Given the description of an element on the screen output the (x, y) to click on. 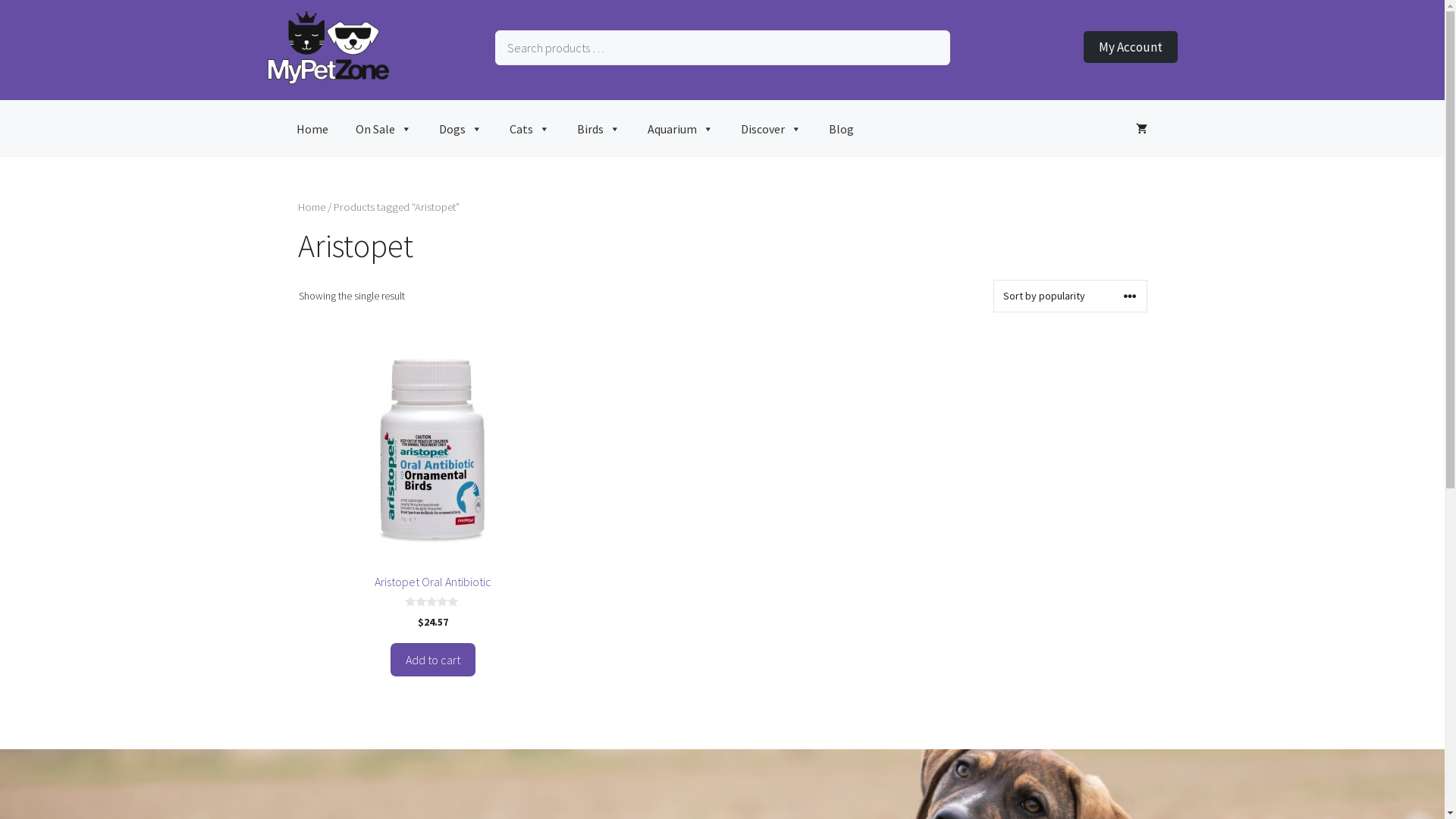
MyPetZone Element type: hover (327, 47)
View your shopping cart Element type: hover (1141, 128)
Add to cart Element type: text (432, 659)
On Sale Element type: text (382, 128)
MyPetZone Element type: hover (327, 79)
Aquarium Element type: text (680, 128)
Blog Element type: text (840, 128)
Home Element type: text (311, 128)
Aristopet Oral Antibiotic
$24.57 Element type: text (432, 482)
Home Element type: text (310, 206)
Cats Element type: text (529, 128)
My Account Element type: text (1129, 46)
Birds Element type: text (597, 128)
Discover Element type: text (770, 128)
Not yet rated Element type: hover (432, 601)
Dogs Element type: text (459, 128)
